Given the description of an element on the screen output the (x, y) to click on. 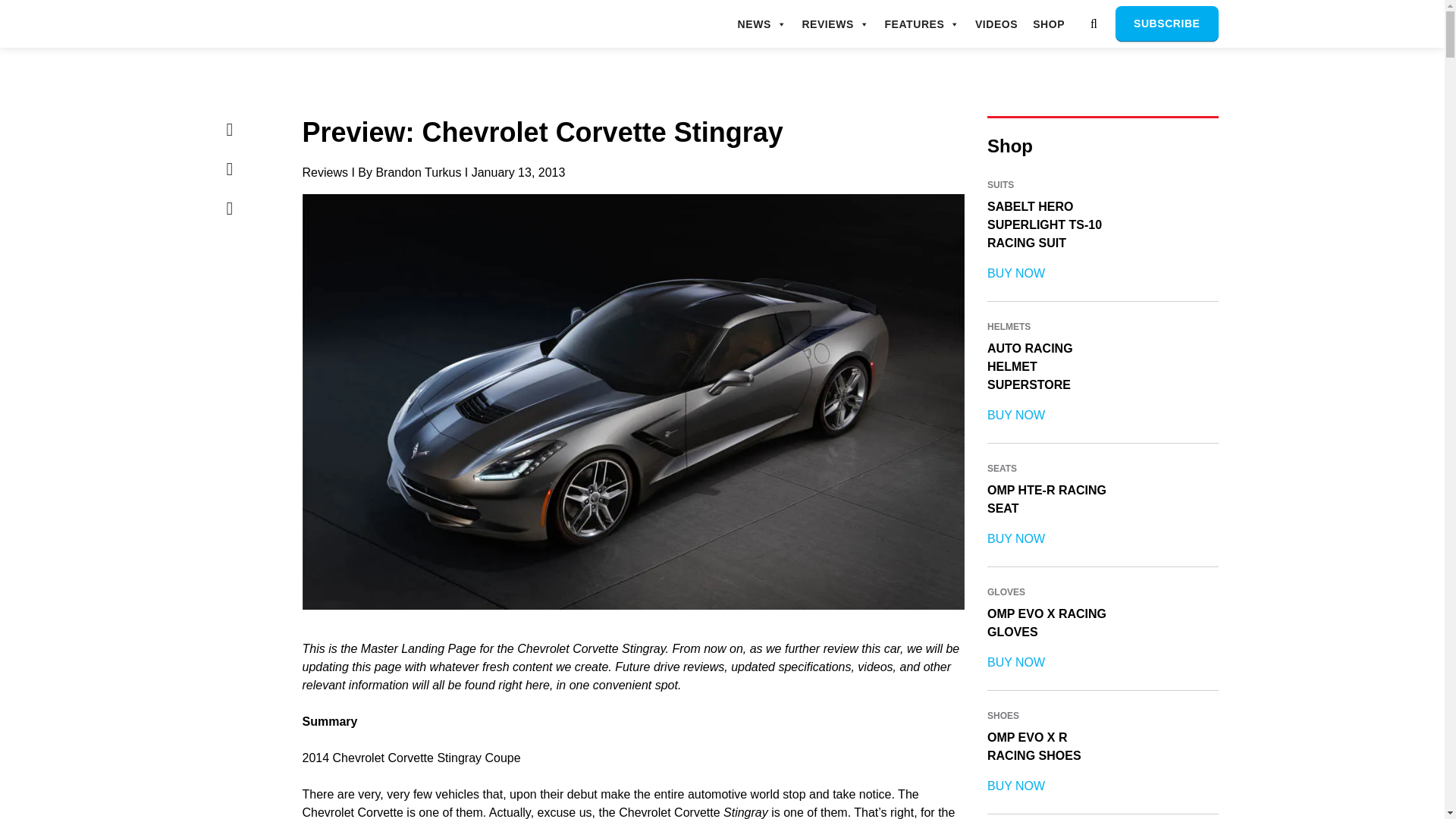
REVIEWS (835, 24)
SHOP (1048, 24)
FEATURES (921, 24)
SUBSCRIBE (1166, 23)
VIDEOS (996, 24)
Reviews (324, 172)
NEWS (762, 24)
